Given the description of an element on the screen output the (x, y) to click on. 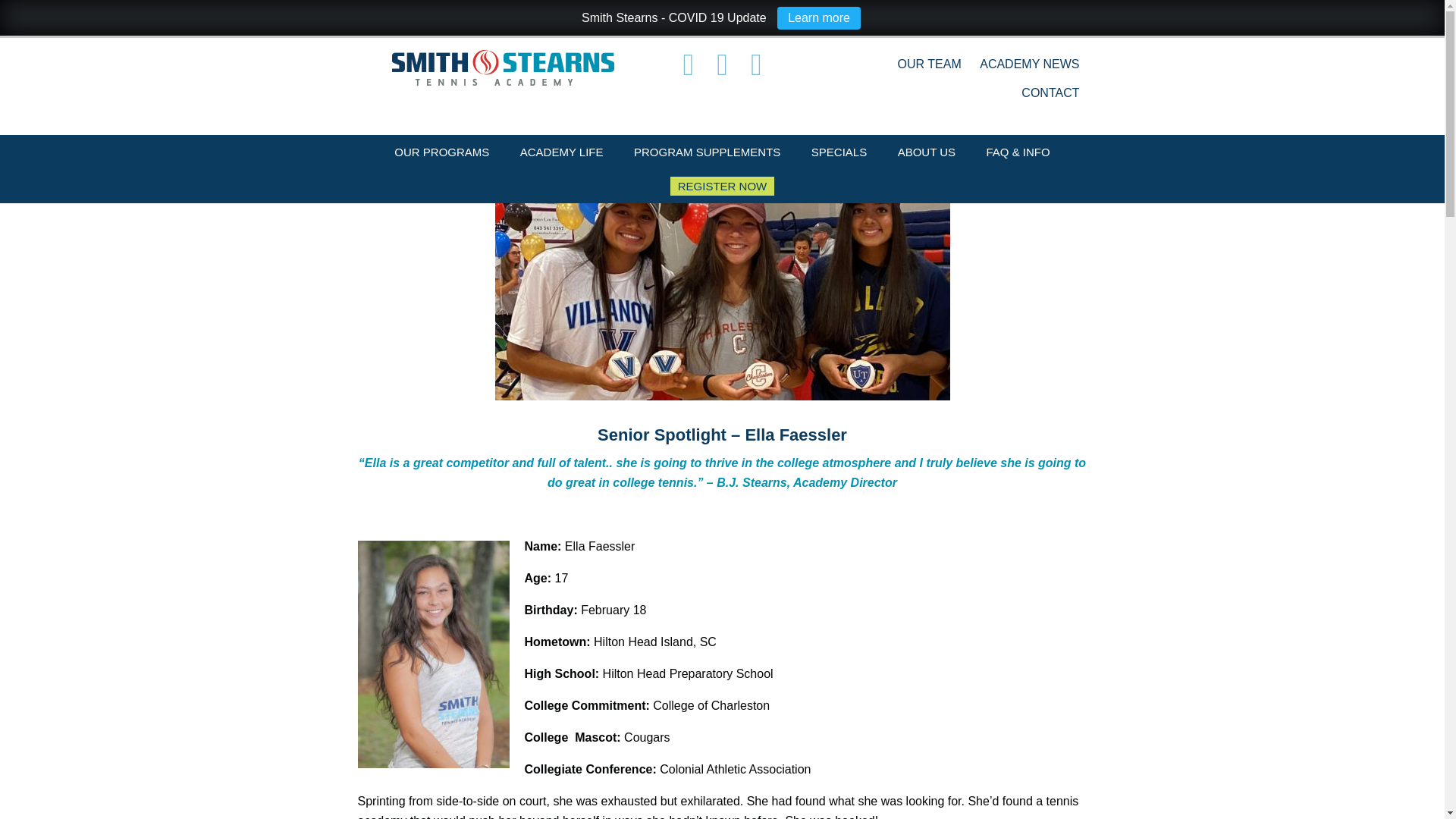
PROGRAM SUPPLEMENTS (706, 151)
OUR TEAM (929, 63)
ABOUT US (926, 151)
ACADEMY NEWS (1029, 63)
SPECIALS (838, 151)
ACADEMY LIFE (561, 151)
OUR PROGRAMS (441, 151)
CONTACT (1049, 92)
